Given the description of an element on the screen output the (x, y) to click on. 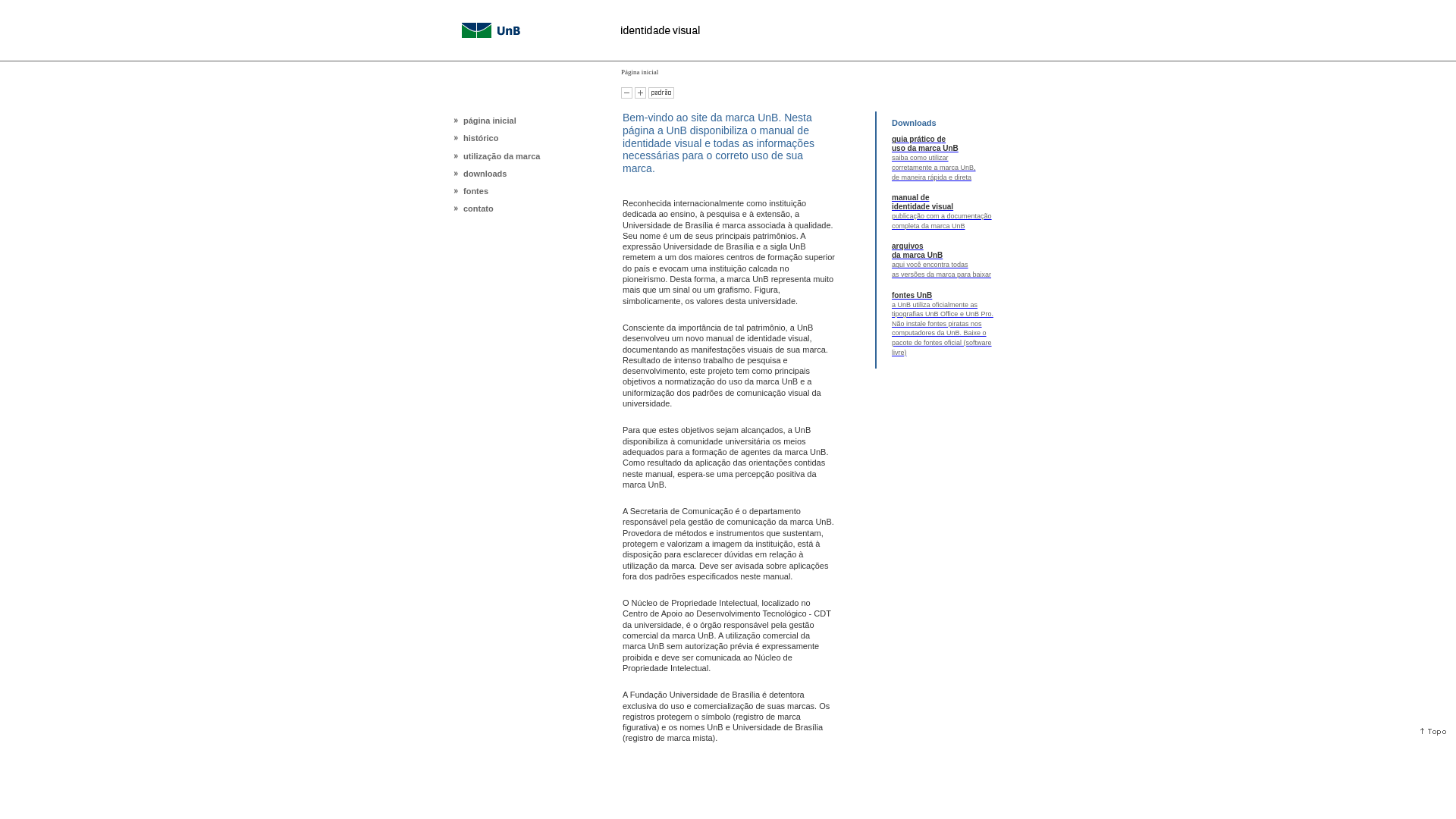
contato Element type: text (478, 208)
Diminuir o tamanho da letra Element type: hover (626, 92)
contato Element type: text (504, 207)
Aumentar o tamanho da letra Element type: hover (640, 92)
fontes Element type: text (475, 190)
fontes Element type: text (504, 189)
downloads Element type: text (484, 173)
downloads Element type: text (504, 172)
